Given the description of an element on the screen output the (x, y) to click on. 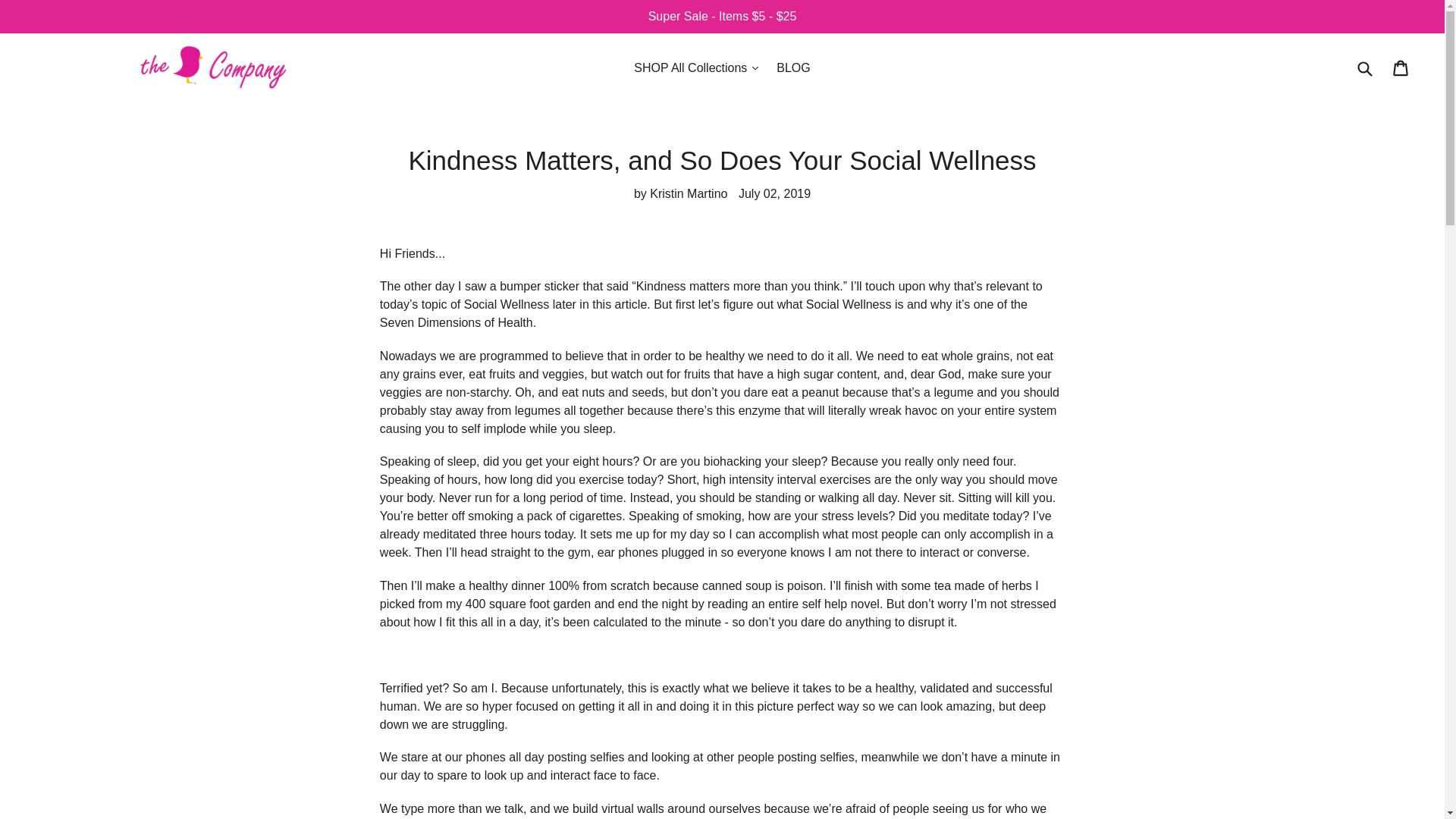
BLOG (792, 67)
